Given the description of an element on the screen output the (x, y) to click on. 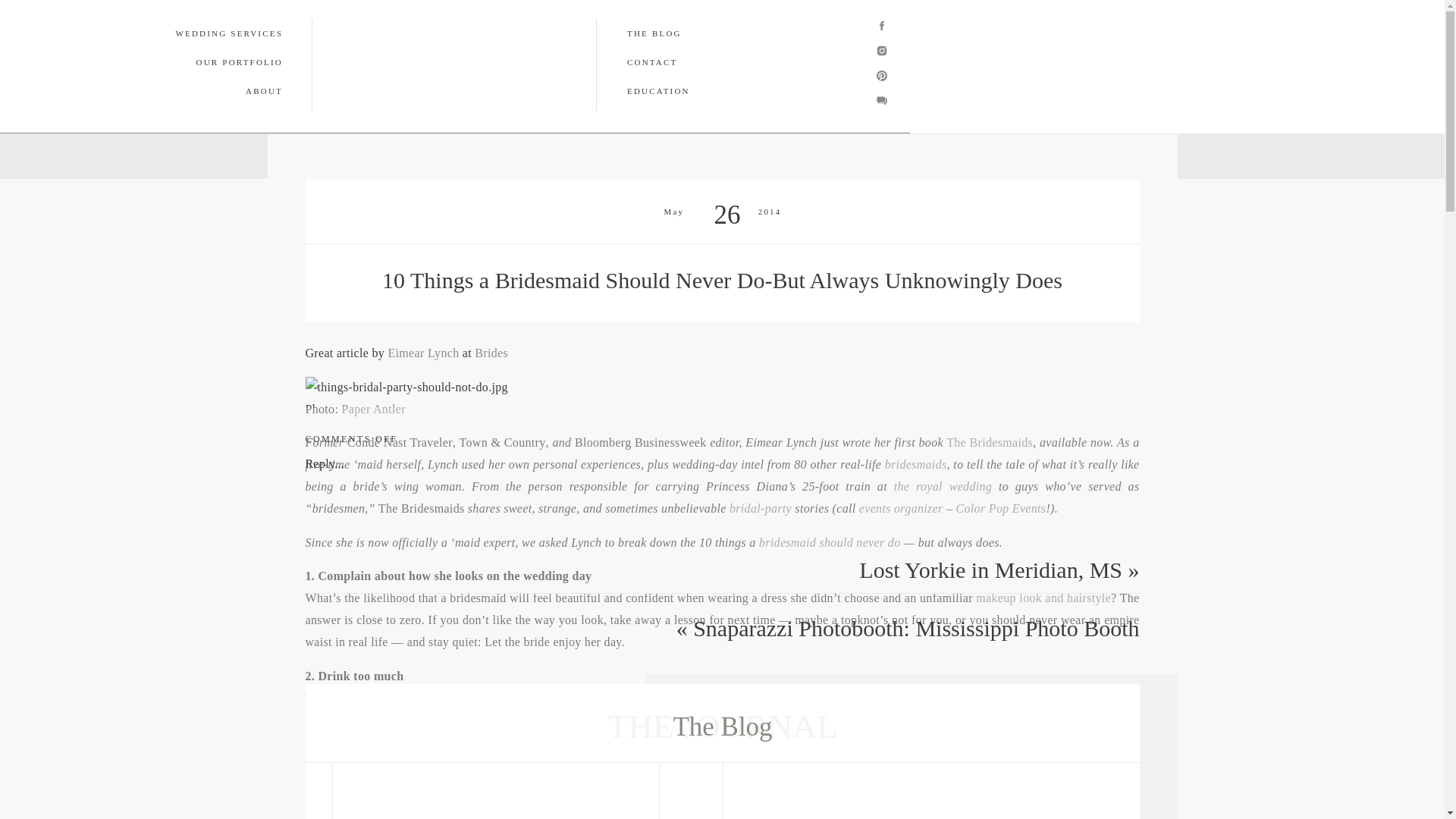
search site for content by Eimear Lynch (422, 352)
WEDDING SERVICES (213, 33)
THE BLOG (394, 155)
THE BLOG (686, 33)
ABOUT (213, 90)
EDUCATION (561, 155)
WEDDING SERVICES (101, 155)
CONTACT (695, 61)
EDUCATION (712, 90)
CONTACT (476, 155)
